Given the description of an element on the screen output the (x, y) to click on. 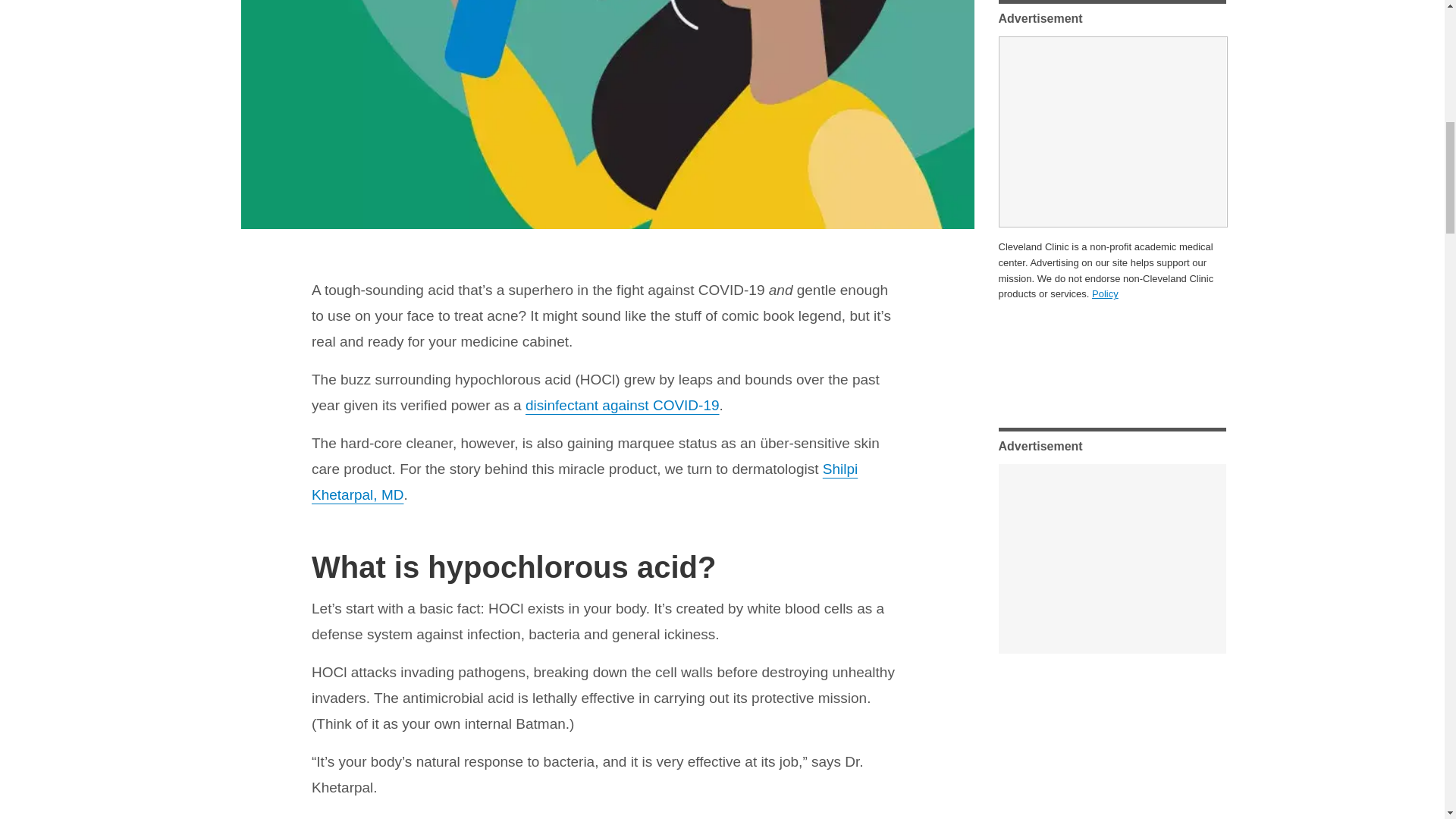
disinfectant against COVID-19 (622, 405)
Shilpi Khetarpal, MD (584, 481)
